Given the description of an element on the screen output the (x, y) to click on. 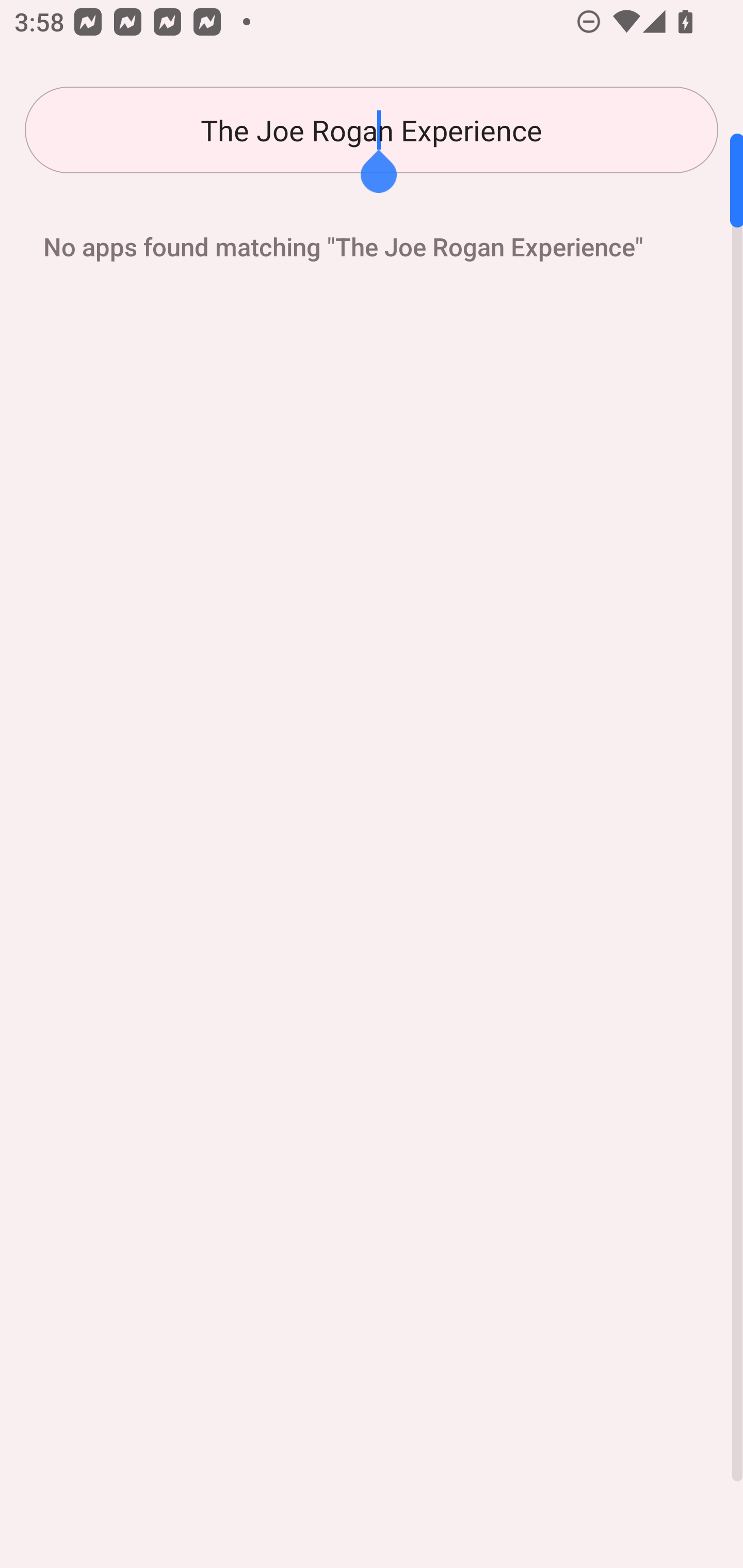
The Joe Rogan Experience (371, 130)
